Given the description of an element on the screen output the (x, y) to click on. 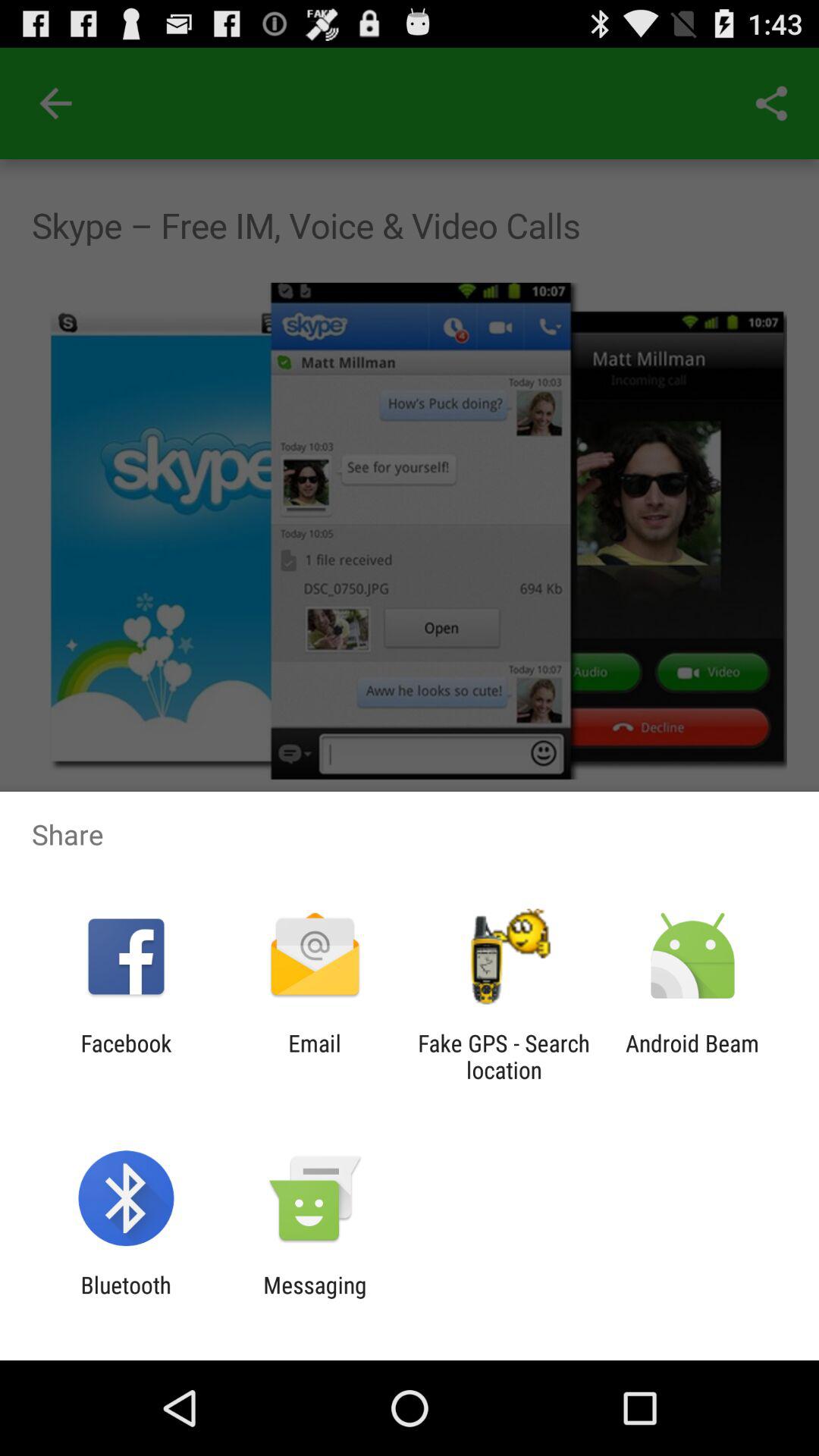
choose bluetooth app (125, 1298)
